Given the description of an element on the screen output the (x, y) to click on. 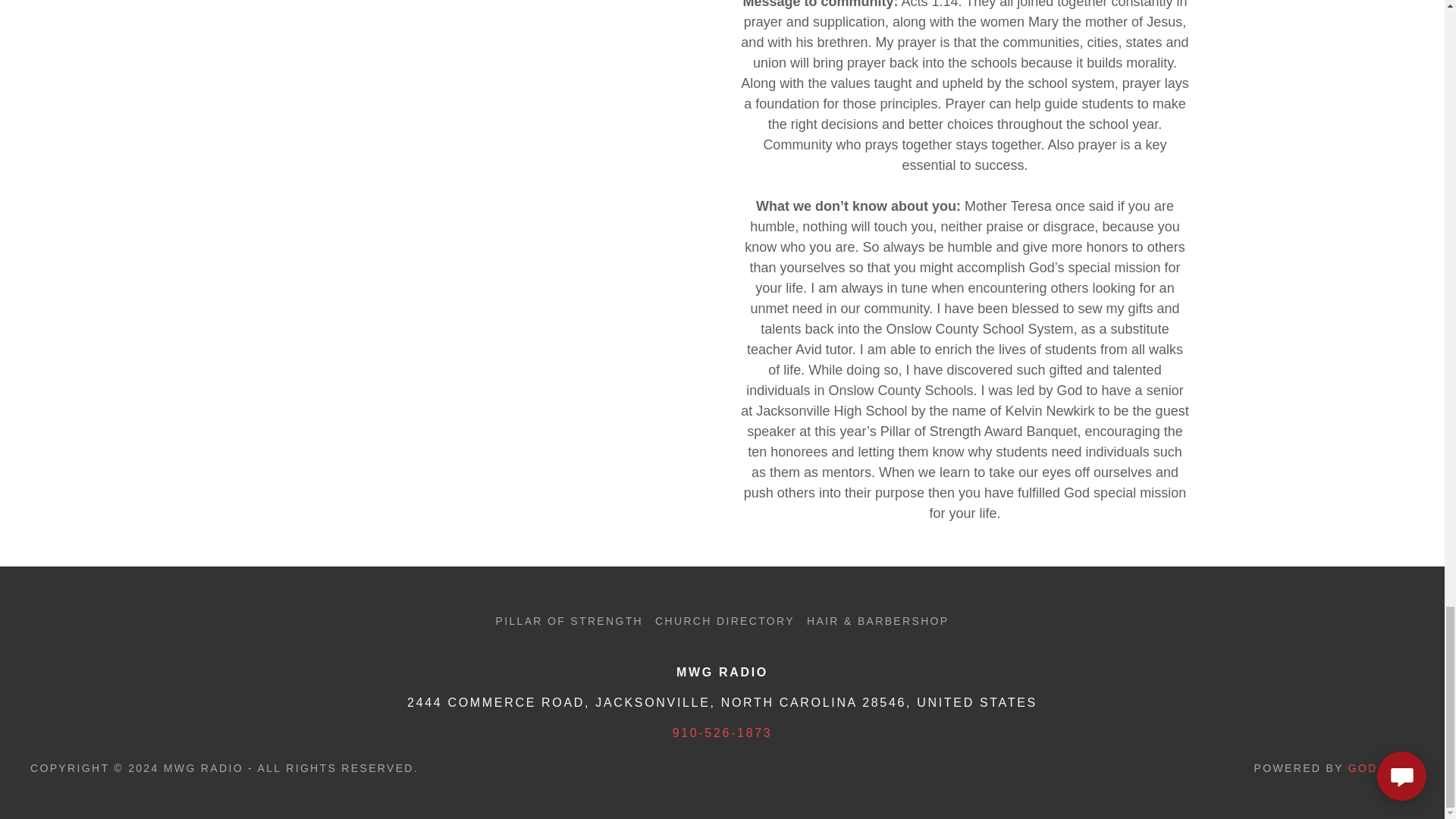
GODADDY (1380, 767)
CHURCH DIRECTORY (724, 621)
910-526-1873 (722, 732)
PILLAR OF STRENGTH (569, 621)
